Given the description of an element on the screen output the (x, y) to click on. 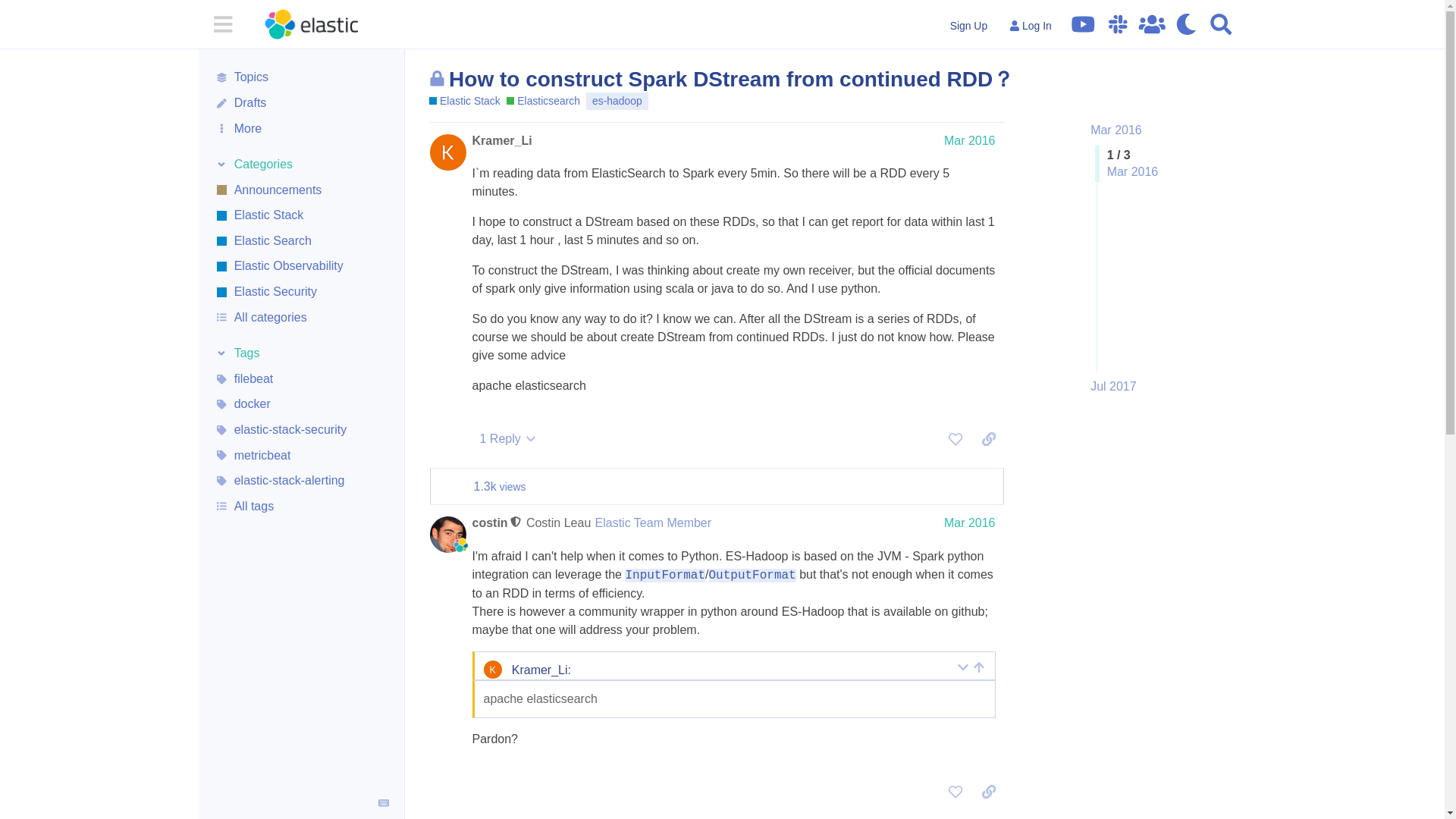
Mar 2016 (1115, 129)
Jul 2017 (1113, 386)
Elastic Stack (464, 101)
Elastic Observability (301, 266)
Elastic Search (301, 240)
Toggle color scheme (1185, 24)
Announcements (301, 190)
Elastic Community Youtube Channel (1082, 23)
Categories (301, 164)
